Given the description of an element on the screen output the (x, y) to click on. 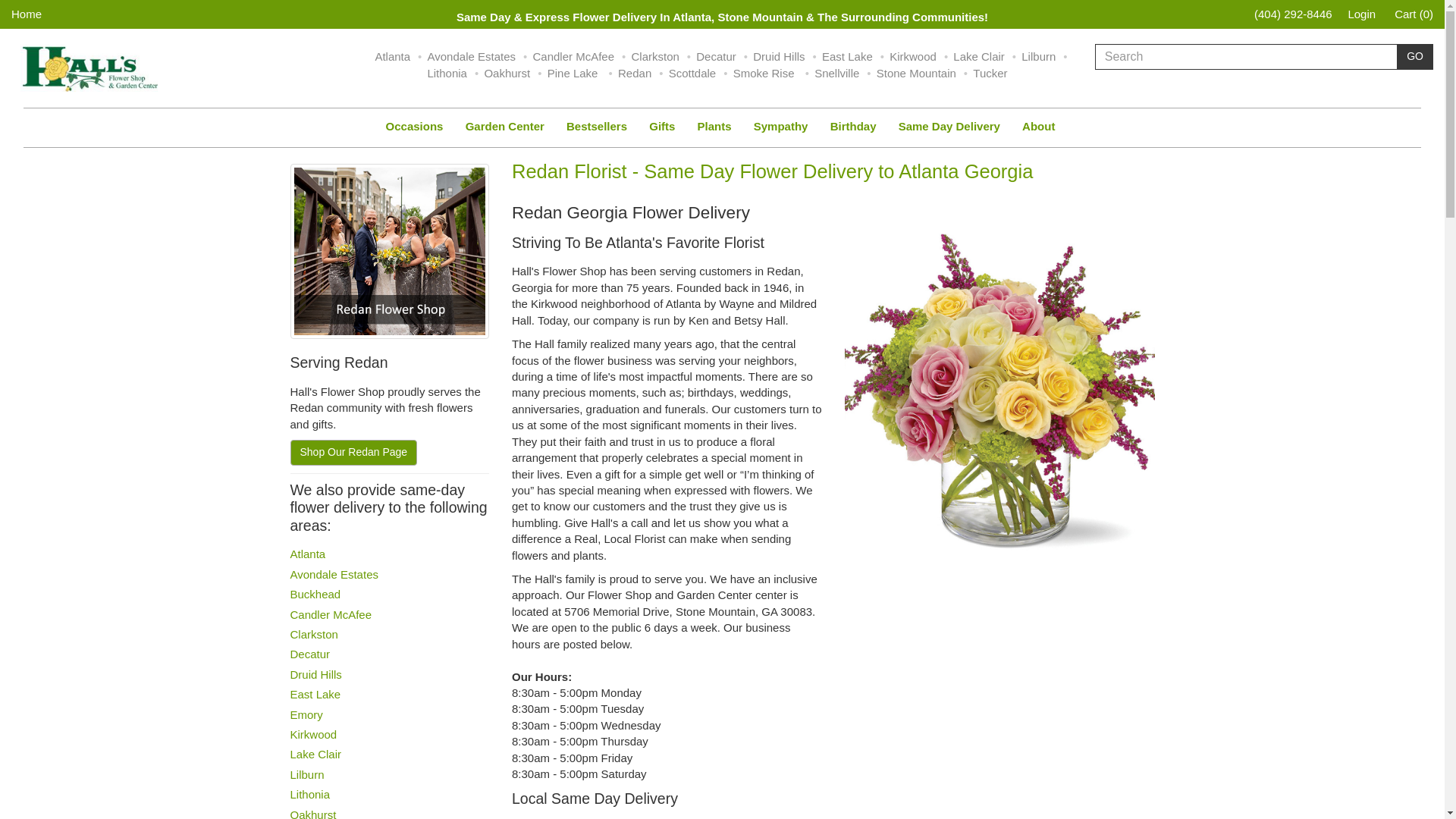
Candler McAfee (573, 56)
Redan (633, 72)
Decatur (715, 56)
Lake Clair (978, 56)
Pine Lake (574, 72)
Druid Hills (778, 56)
Kirkwood (912, 56)
Atlanta (392, 56)
Tucker (989, 72)
Oakhurst (506, 72)
East Lake (847, 56)
Avondale Estates (471, 56)
Stone Mountain (916, 72)
Smoke Rise (765, 72)
Lithonia (446, 72)
